Given the description of an element on the screen output the (x, y) to click on. 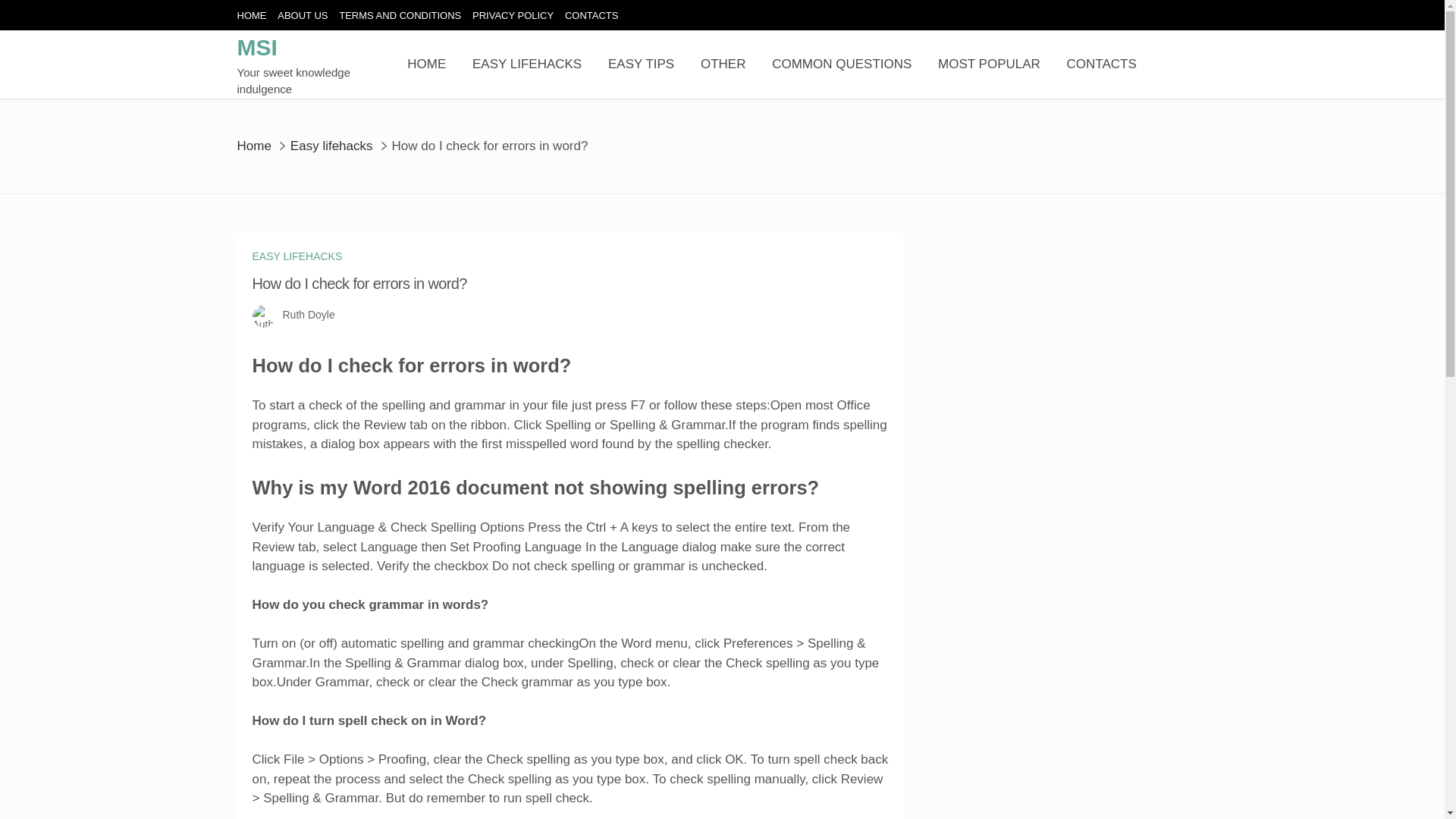
OTHER (722, 64)
ABOUT US (302, 15)
HOME (250, 15)
MOST POPULAR (989, 64)
COMMON QUESTIONS (841, 64)
EASY LIFEHACKS (296, 256)
Home (252, 145)
Ruth Doyle (308, 314)
CONTACTS (591, 15)
HOME (426, 64)
TERMS AND CONDITIONS (400, 15)
EASY TIPS (641, 64)
MSI (255, 47)
PRIVACY POLICY (512, 15)
EASY LIFEHACKS (525, 64)
